Given the description of an element on the screen output the (x, y) to click on. 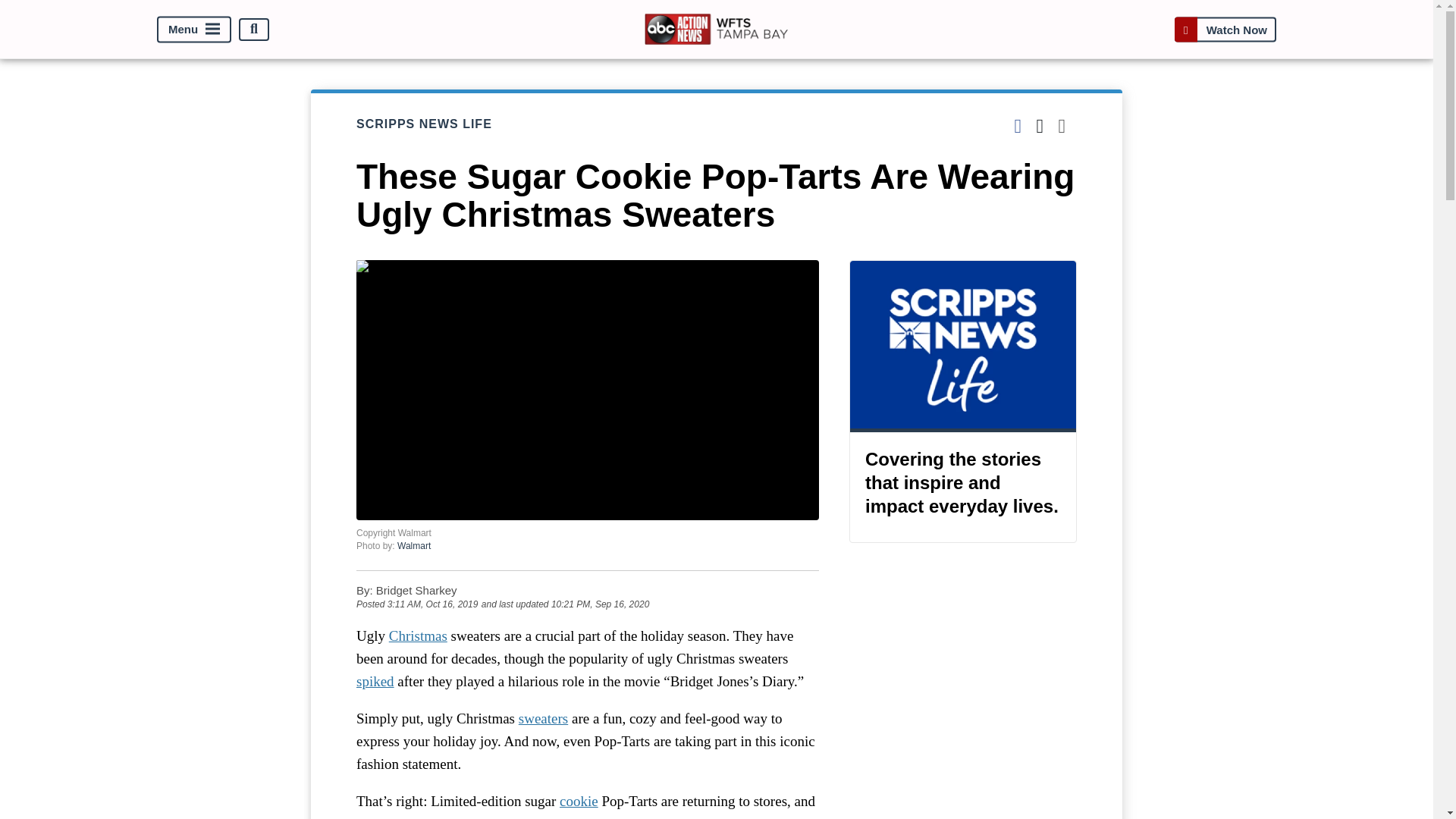
Watch Now (1224, 29)
Menu (194, 28)
